Given the description of an element on the screen output the (x, y) to click on. 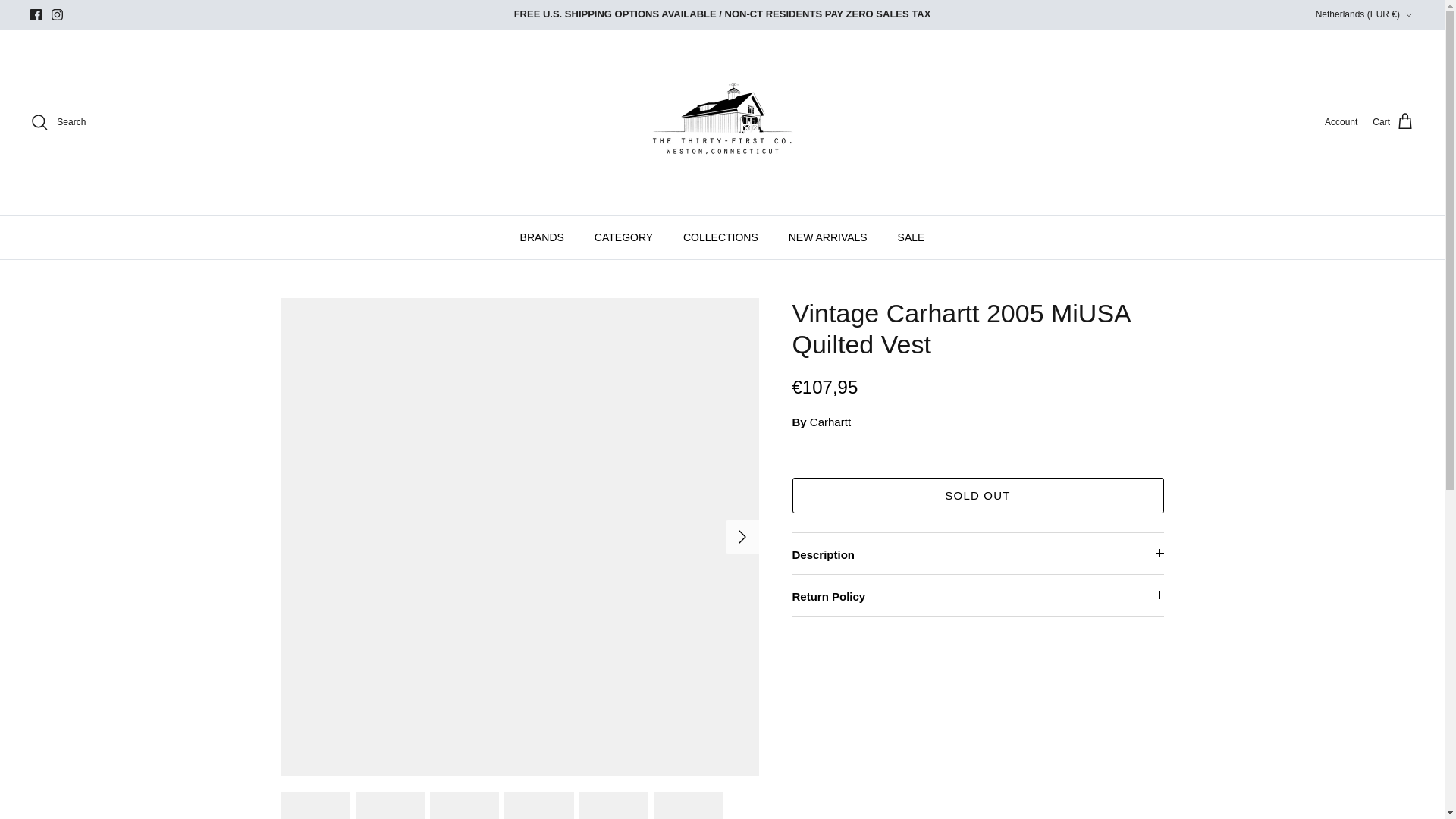
Search (57, 122)
Facebook (36, 14)
Down (1408, 14)
Instagram (56, 14)
Facebook (36, 14)
RIGHT (741, 536)
The Thirty-First Co. (722, 122)
Instagram (56, 14)
